Given the description of an element on the screen output the (x, y) to click on. 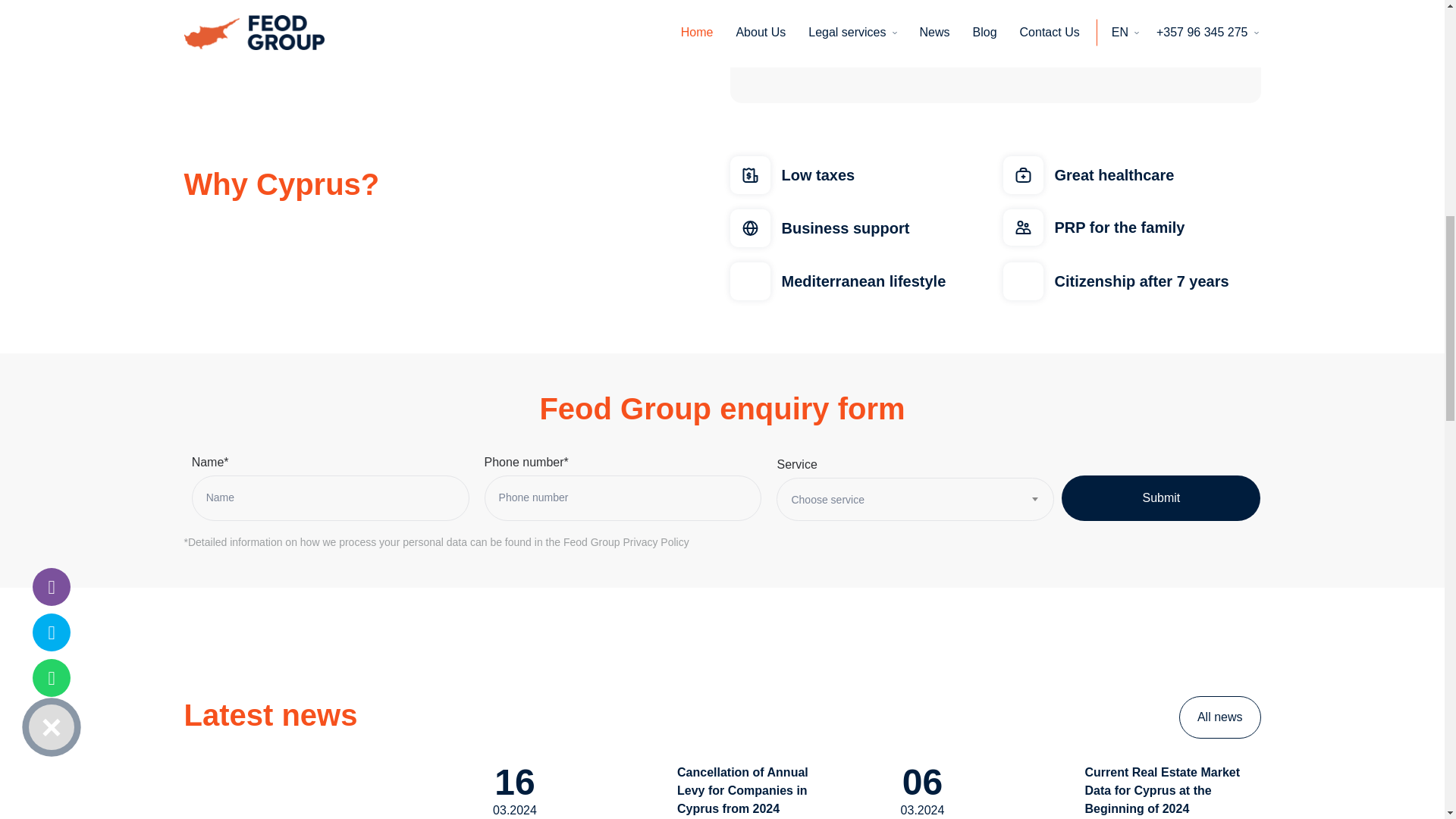
Submit (1160, 497)
Learn more (232, 4)
Choose service (914, 500)
Submit (1160, 497)
All news (1219, 717)
